Given the description of an element on the screen output the (x, y) to click on. 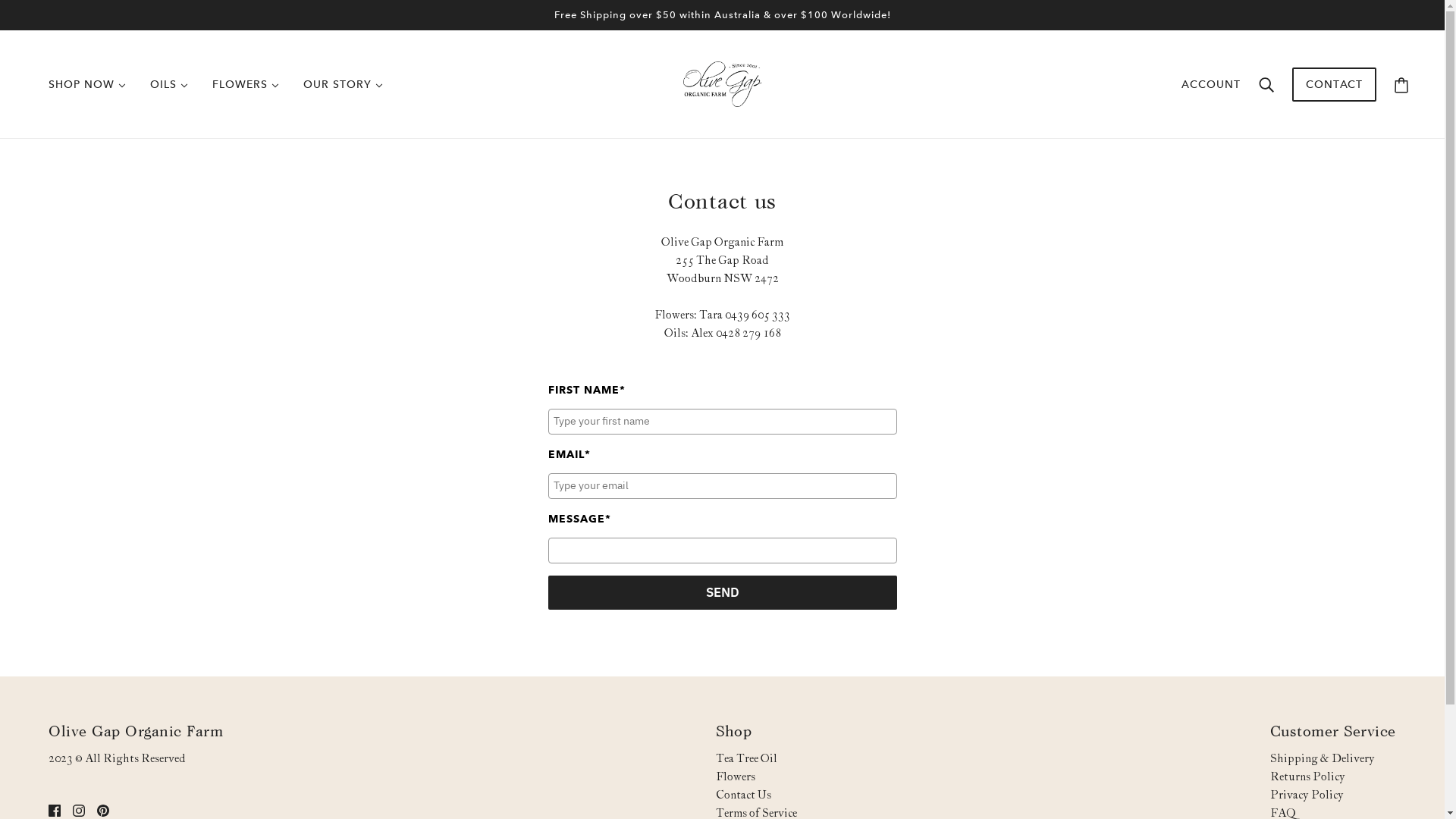
CONTACT Element type: text (1334, 91)
Contact Us Element type: text (743, 794)
FLOWERS Element type: text (245, 83)
SEND Element type: text (721, 592)
Tea Tree Oil Element type: text (746, 758)
Flowers Element type: text (735, 776)
Privacy Policy Element type: text (1306, 794)
OUR STORY Element type: text (343, 83)
SHOP NOW Element type: text (87, 83)
Shipping & Delivery Element type: text (1322, 758)
ACCOUNT Element type: text (1210, 84)
Olive Gap Organic Farm Element type: hover (721, 82)
Returns Policy Element type: text (1307, 776)
OILS Element type: text (169, 83)
